Given the description of an element on the screen output the (x, y) to click on. 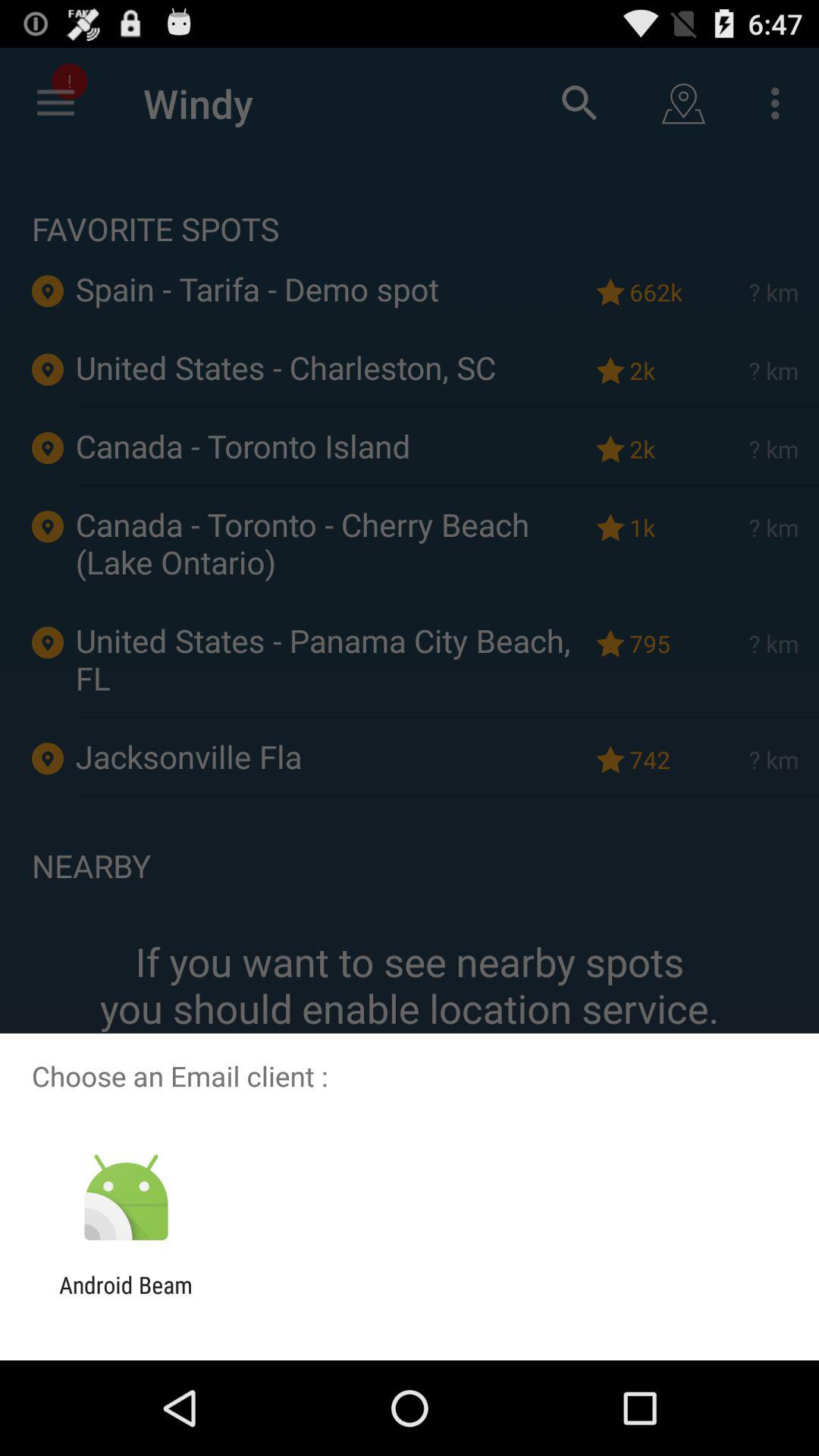
press the app below choose an email (126, 1198)
